Given the description of an element on the screen output the (x, y) to click on. 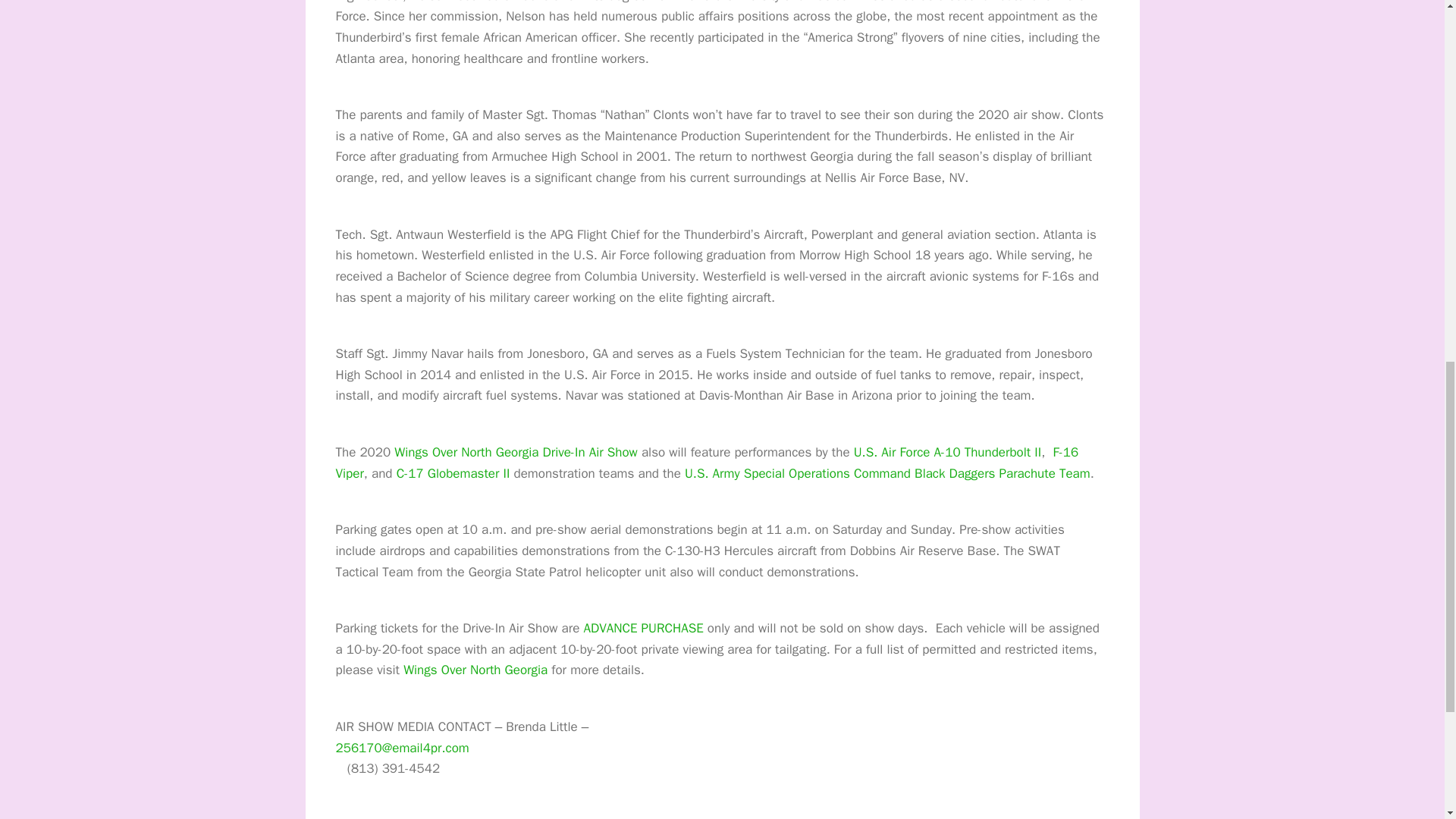
F-16 Viper (706, 462)
U.S. Air Force A-10 Thunderbolt II (947, 452)
Wings Over North Georgia Drive-In Air Show (515, 452)
C-17 Globemaster II (453, 473)
ADVANCE PURCHASE (643, 627)
Wings Over North Georgia (475, 669)
